Given the description of an element on the screen output the (x, y) to click on. 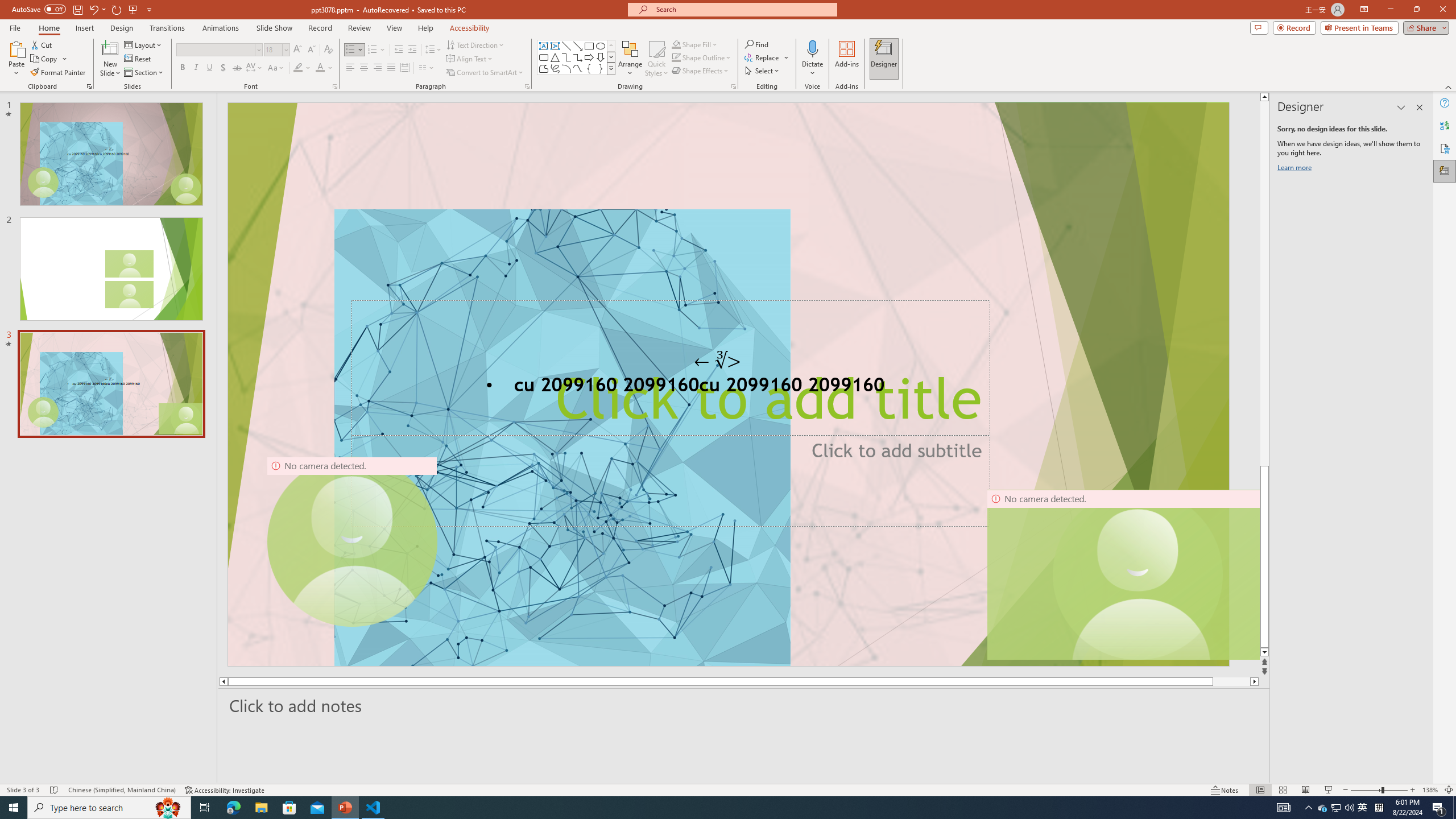
Subtitle TextBox (670, 480)
